Given the description of an element on the screen output the (x, y) to click on. 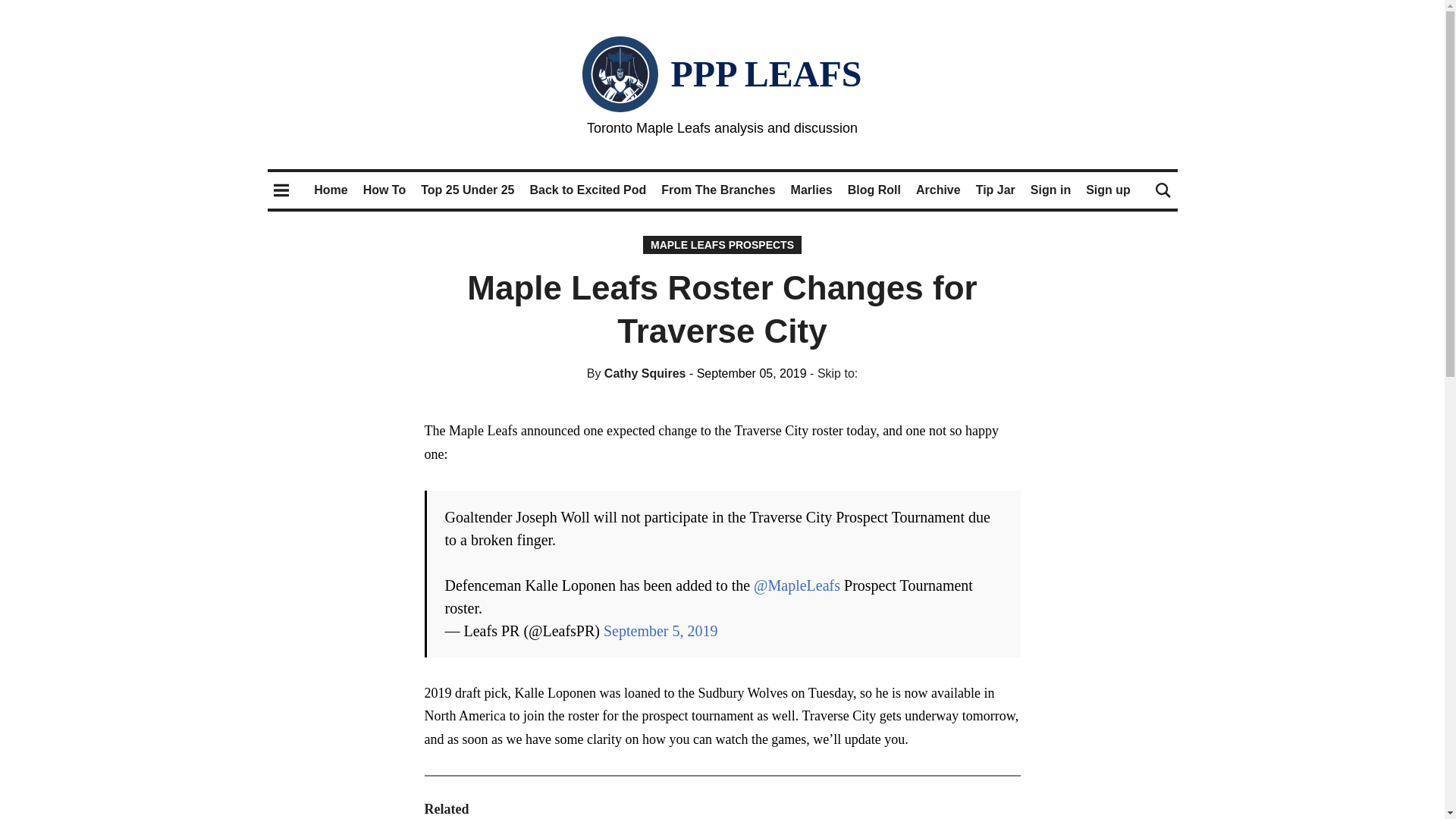
Top 25 Under 25 (466, 189)
05 September, 2019 (747, 373)
Home (330, 189)
Blog Roll (874, 189)
Sign in (1050, 189)
Archive (937, 189)
Marlies (811, 189)
Sign up (1108, 189)
- Skip to: (833, 373)
Back to Excited Pod (587, 189)
PPP LEAFS (765, 74)
By Cathy Squires (635, 373)
MAPLE LEAFS PROSPECTS (722, 244)
From The Branches (717, 189)
Tip Jar (994, 189)
